Given the description of an element on the screen output the (x, y) to click on. 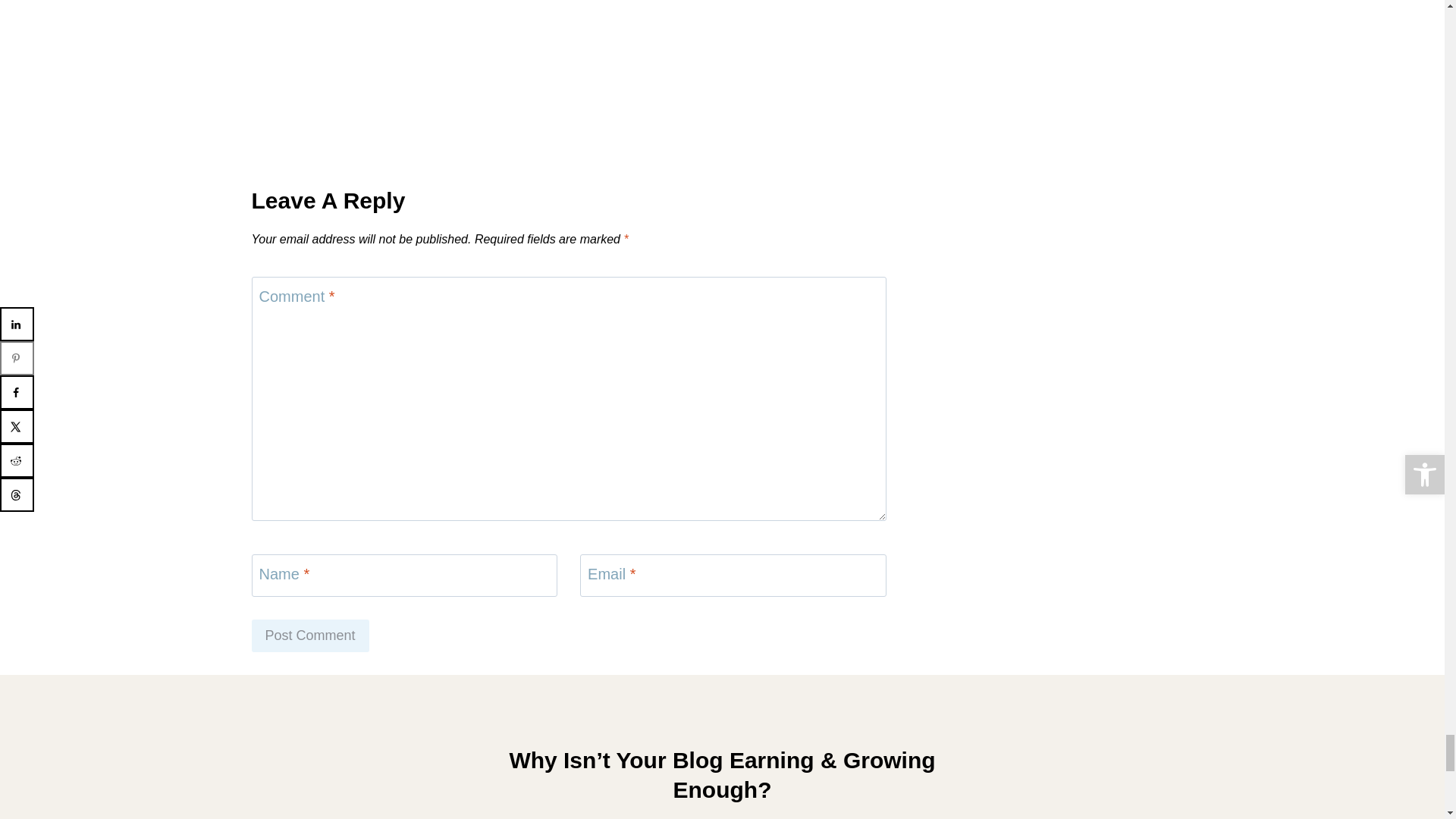
Post Comment (310, 635)
